Given the description of an element on the screen output the (x, y) to click on. 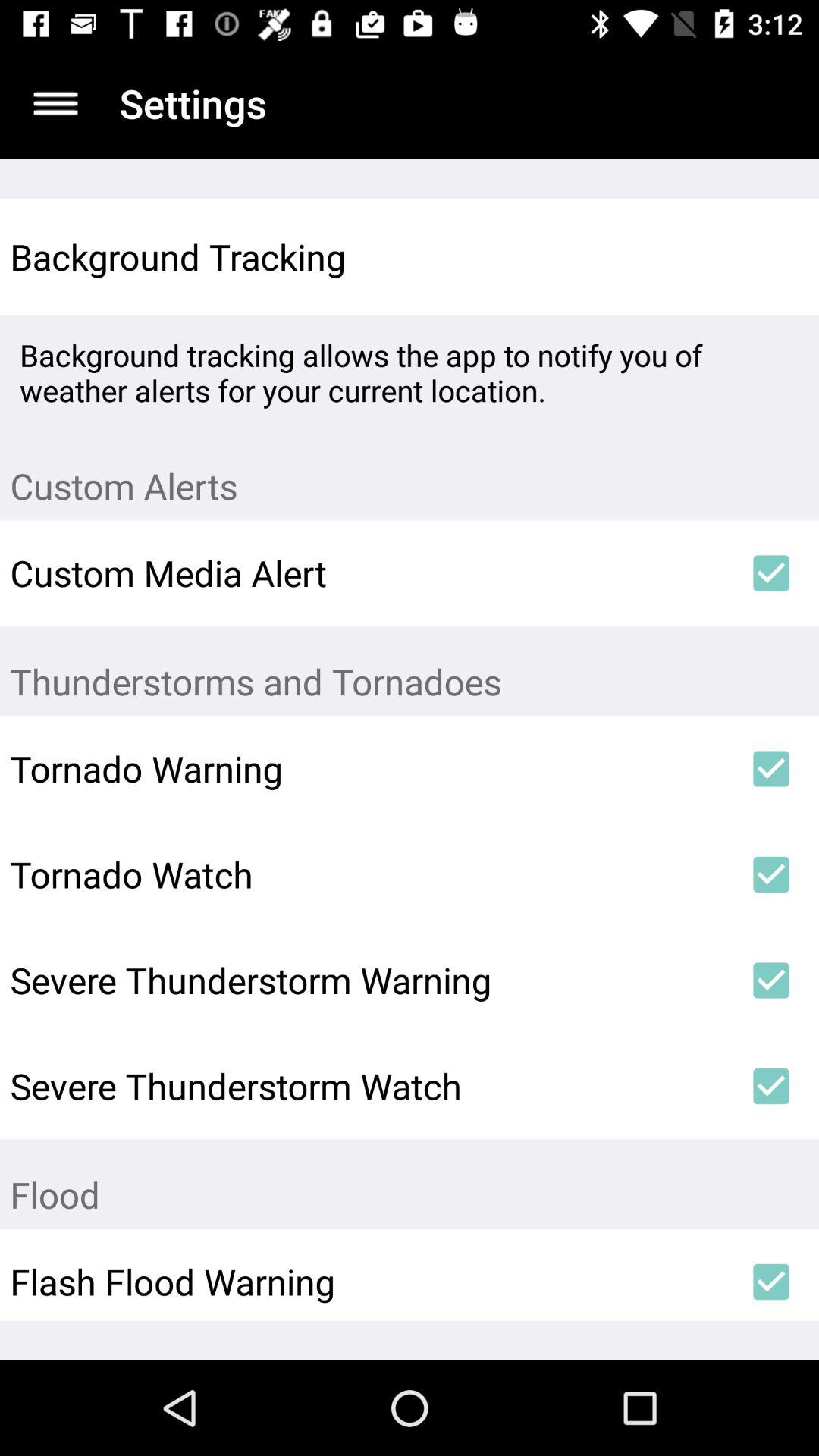
tap item next to background tracking icon (771, 256)
